Given the description of an element on the screen output the (x, y) to click on. 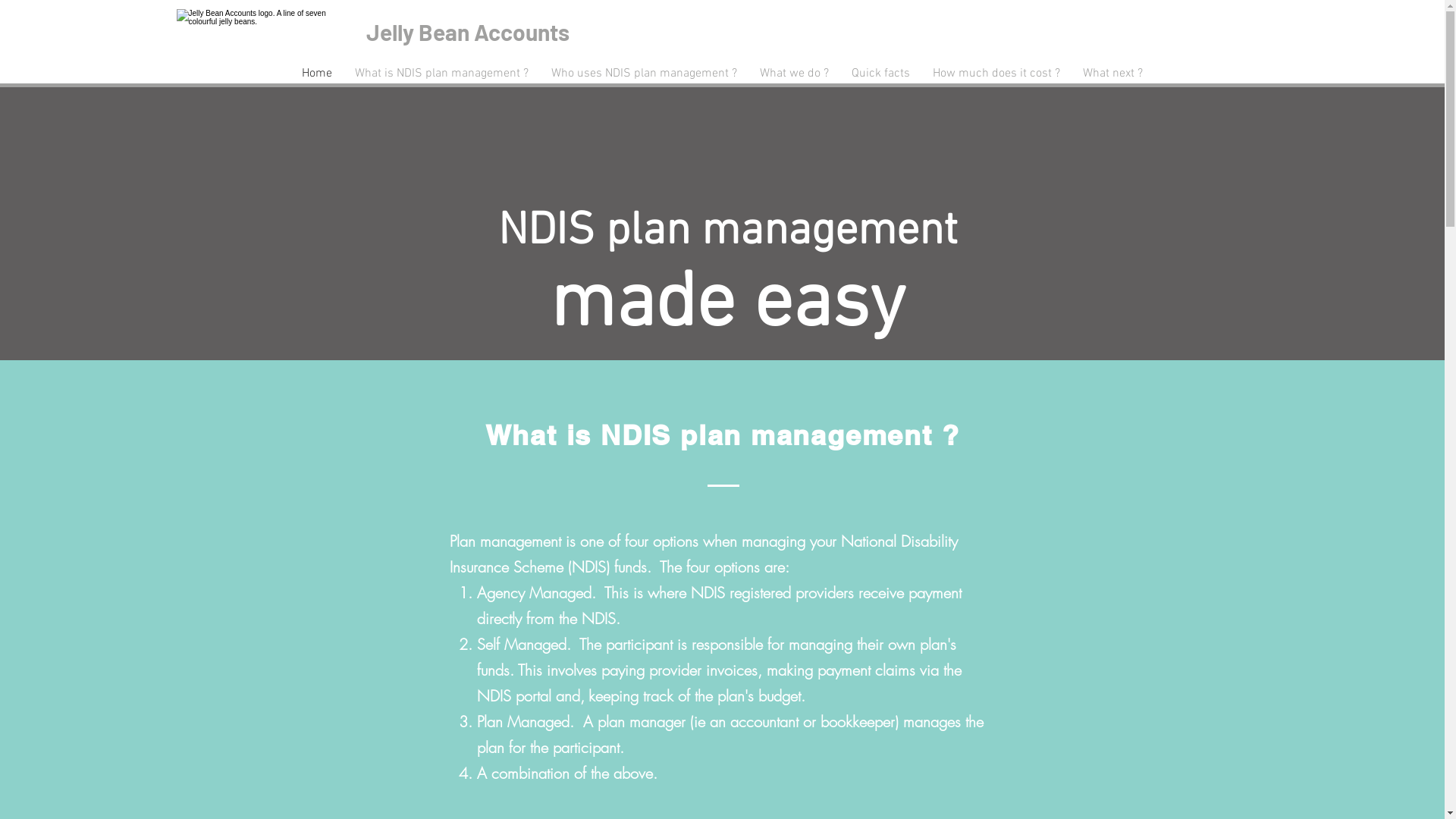
Home Element type: text (316, 73)
Jelly Bean Accounts Element type: text (466, 31)
What next ? Element type: text (1112, 73)
Who uses NDIS plan management ? Element type: text (643, 73)
What we do ? Element type: text (794, 73)
Quick facts Element type: text (880, 73)
How much does it cost ? Element type: text (996, 73)
What is NDIS plan management ? Element type: text (441, 73)
